Given the description of an element on the screen output the (x, y) to click on. 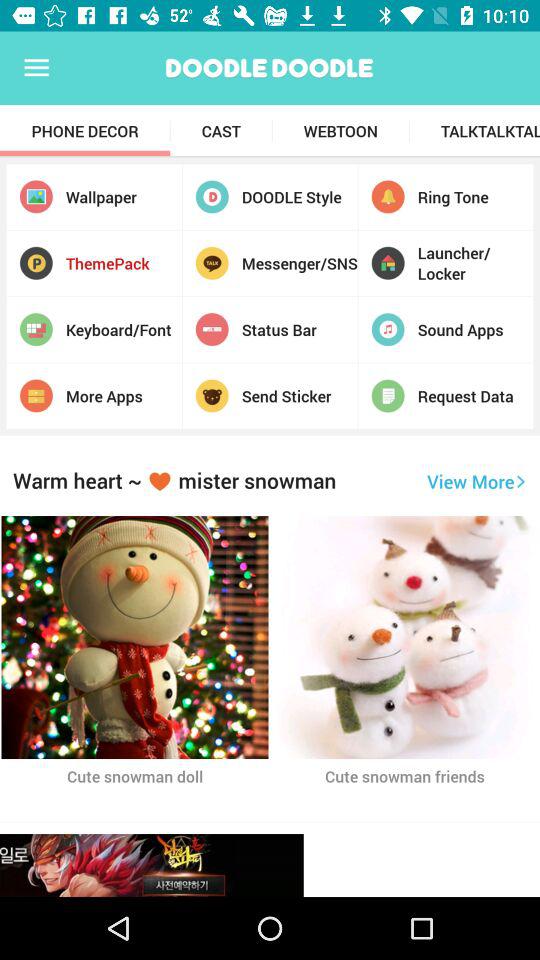
tap the app above the phone decor item (36, 68)
